Given the description of an element on the screen output the (x, y) to click on. 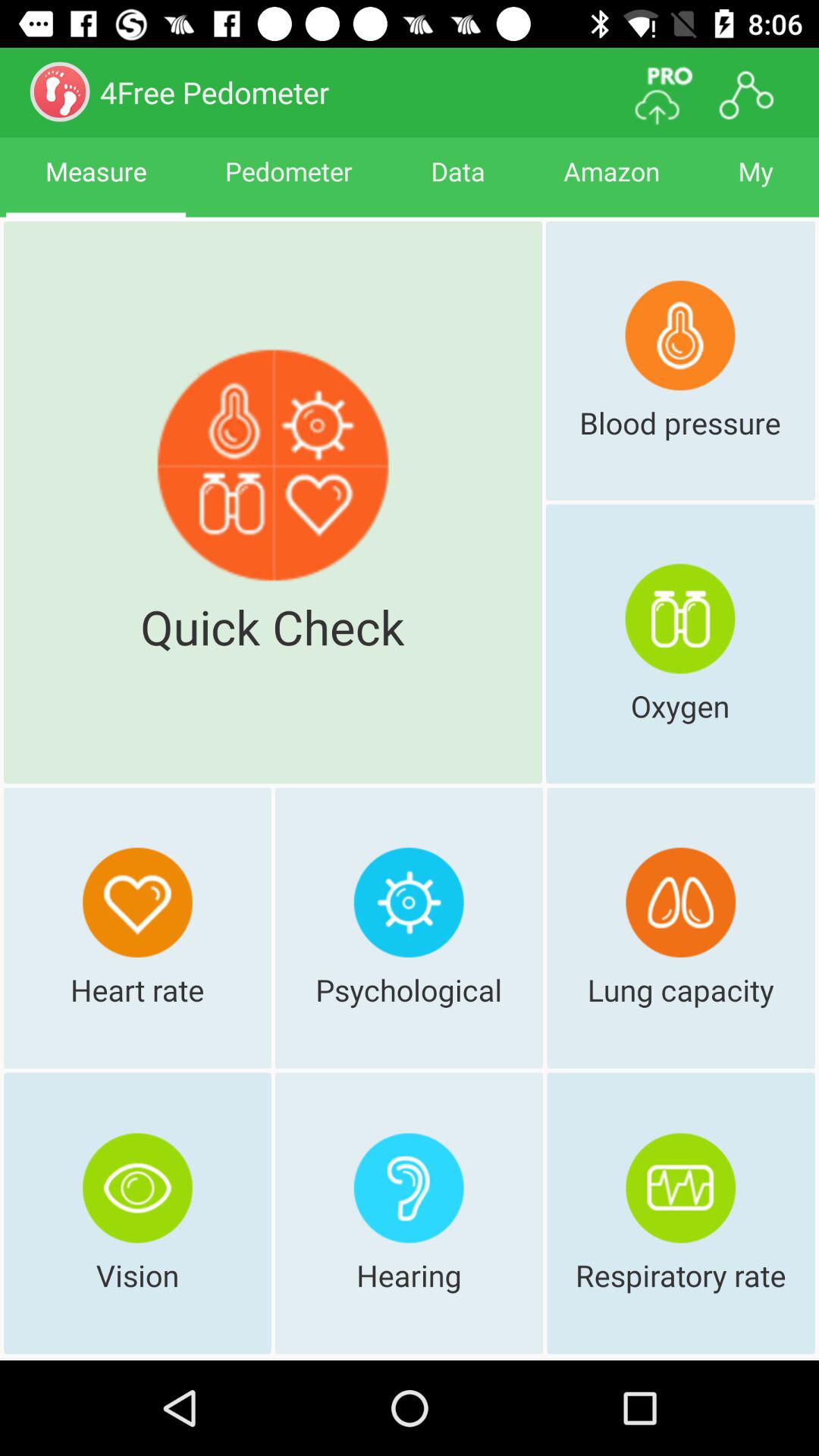
flip until the my app (755, 185)
